Given the description of an element on the screen output the (x, y) to click on. 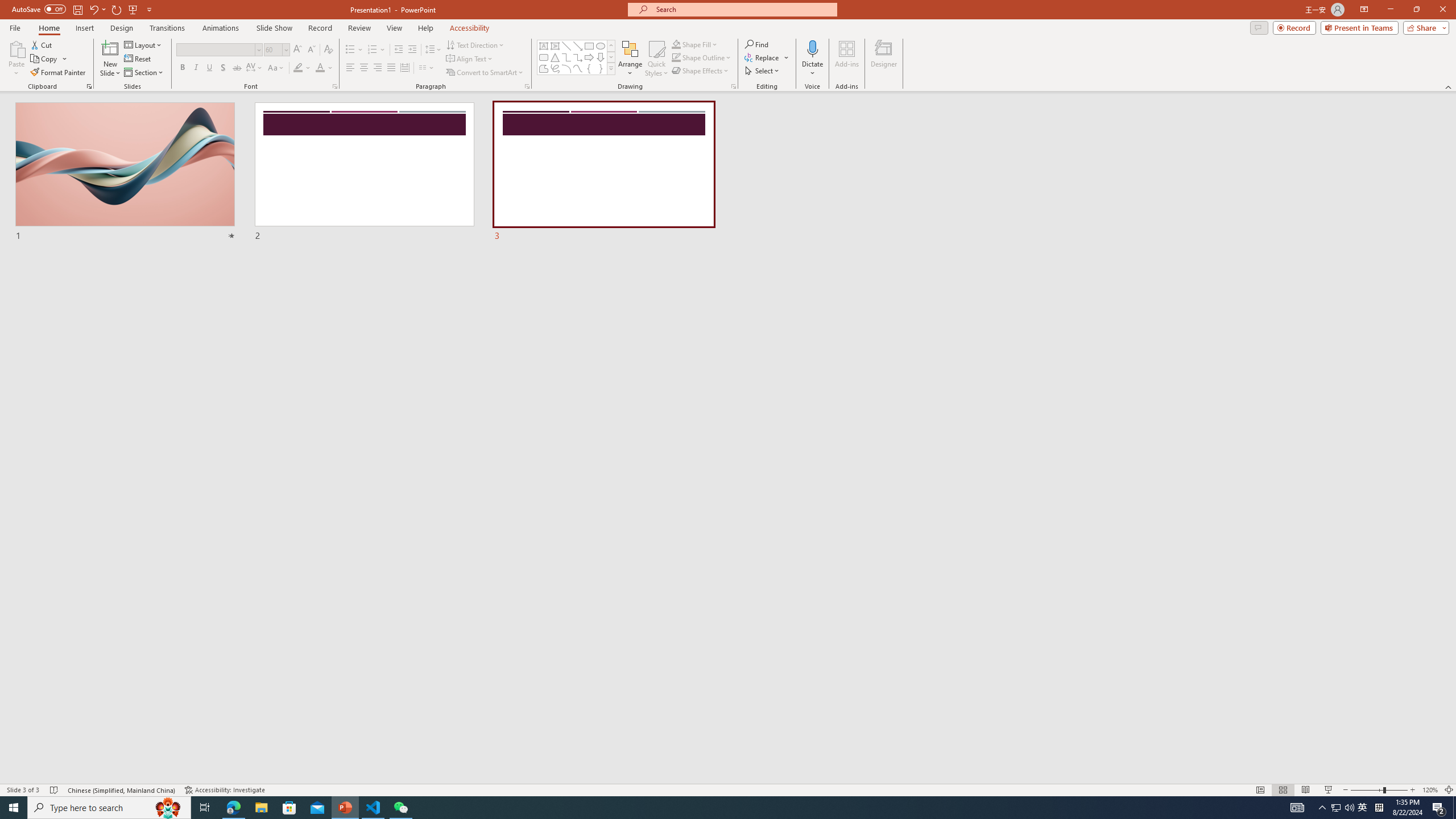
Increase Indent (412, 49)
Zoom 120% (1430, 790)
Clear Formatting (327, 49)
